Given the description of an element on the screen output the (x, y) to click on. 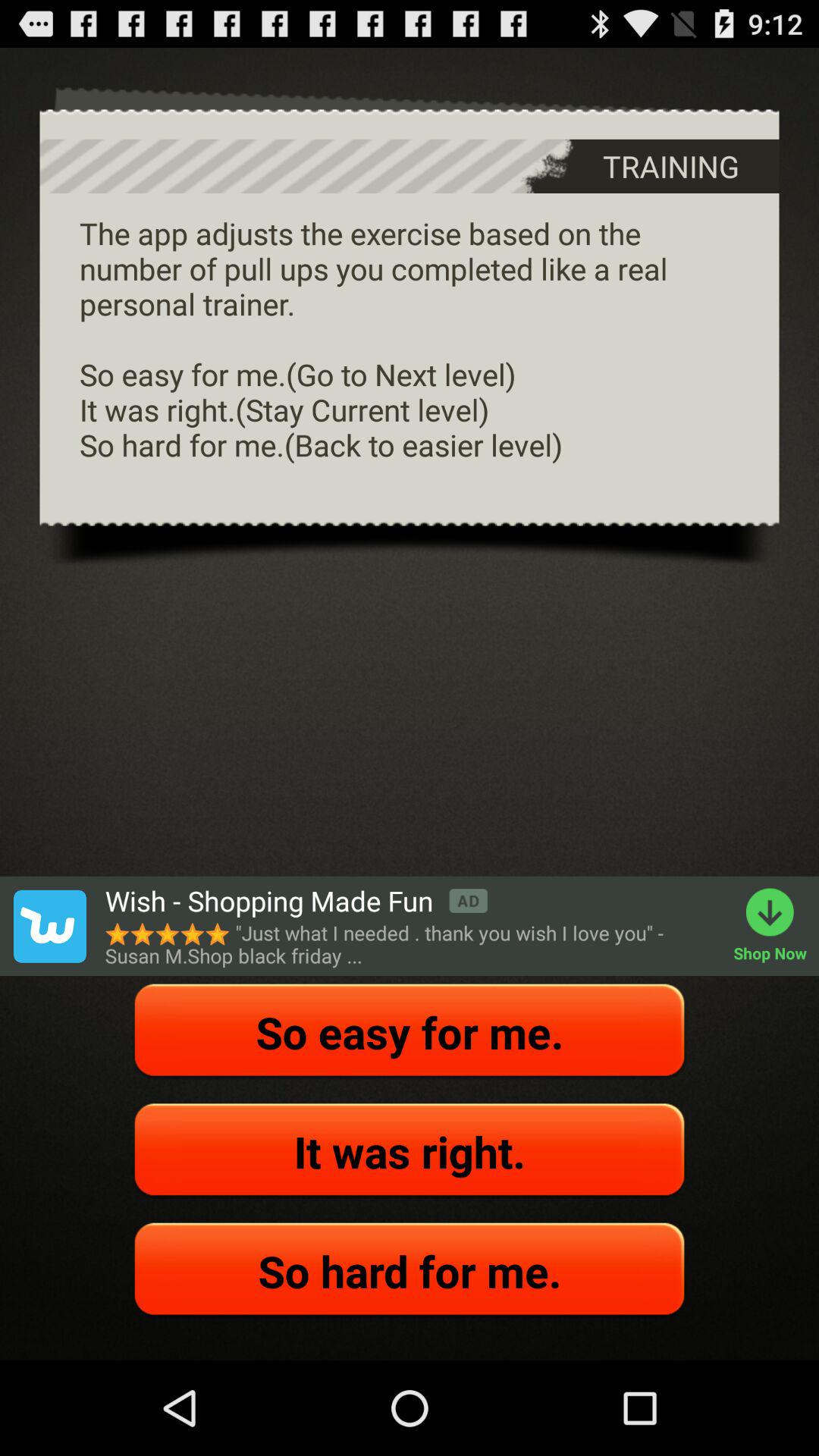
press the app below the the app adjusts (776, 926)
